Given the description of an element on the screen output the (x, y) to click on. 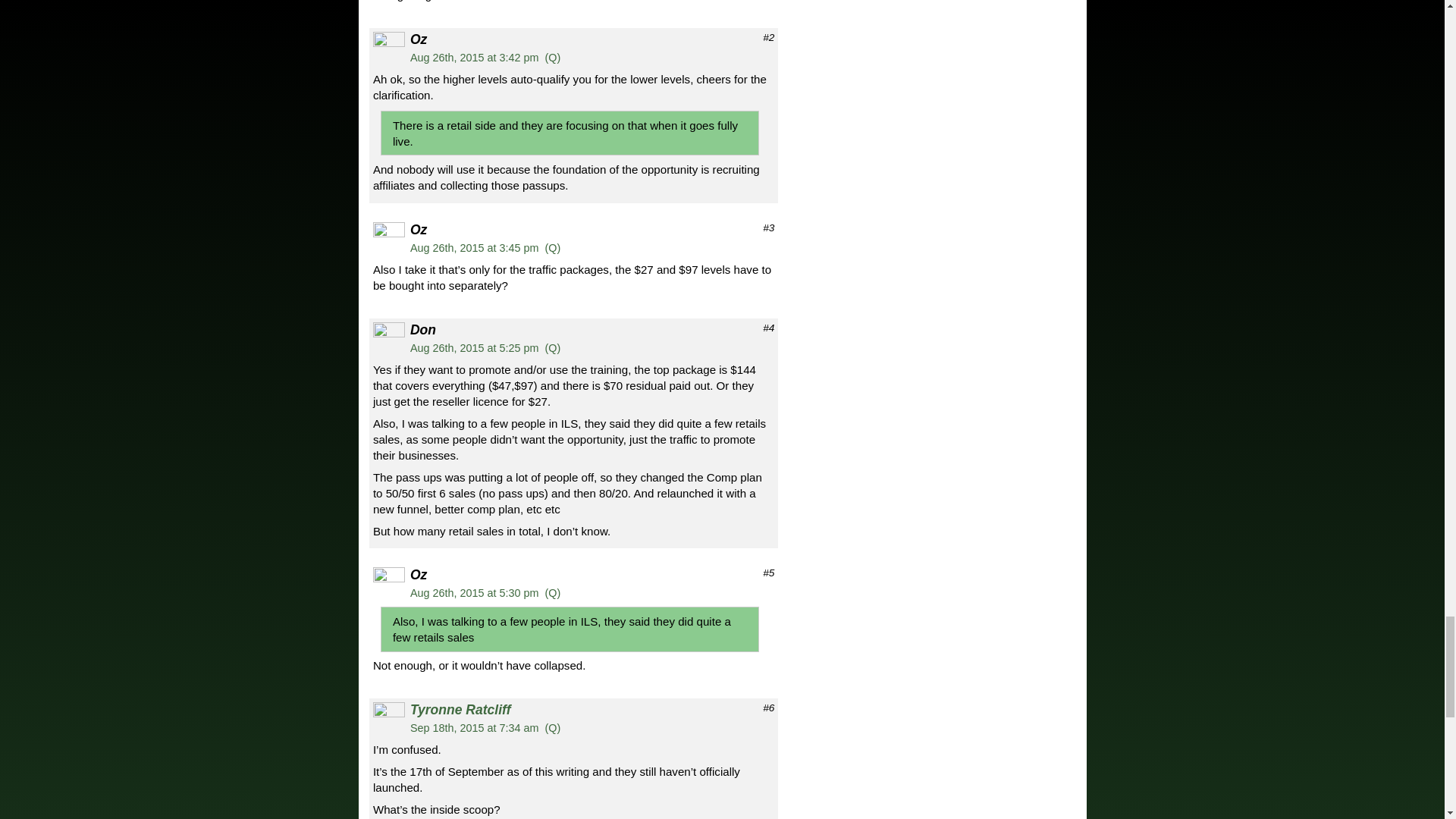
Aug 26th, 2015 at 3:45 pm (474, 247)
Click here or select text to quote comment (552, 347)
Click here or select text to quote comment (552, 592)
Click here or select text to quote comment (552, 247)
Aug 26th, 2015 at 5:25 pm (474, 347)
Aug 26th, 2015 at 5:30 pm (474, 592)
Aug 26th, 2015 at 3:42 pm (474, 57)
Sep 18th, 2015 at 7:34 am (474, 727)
Tyronne Ratcliff (460, 709)
Click here or select text to quote comment (552, 57)
